Given the description of an element on the screen output the (x, y) to click on. 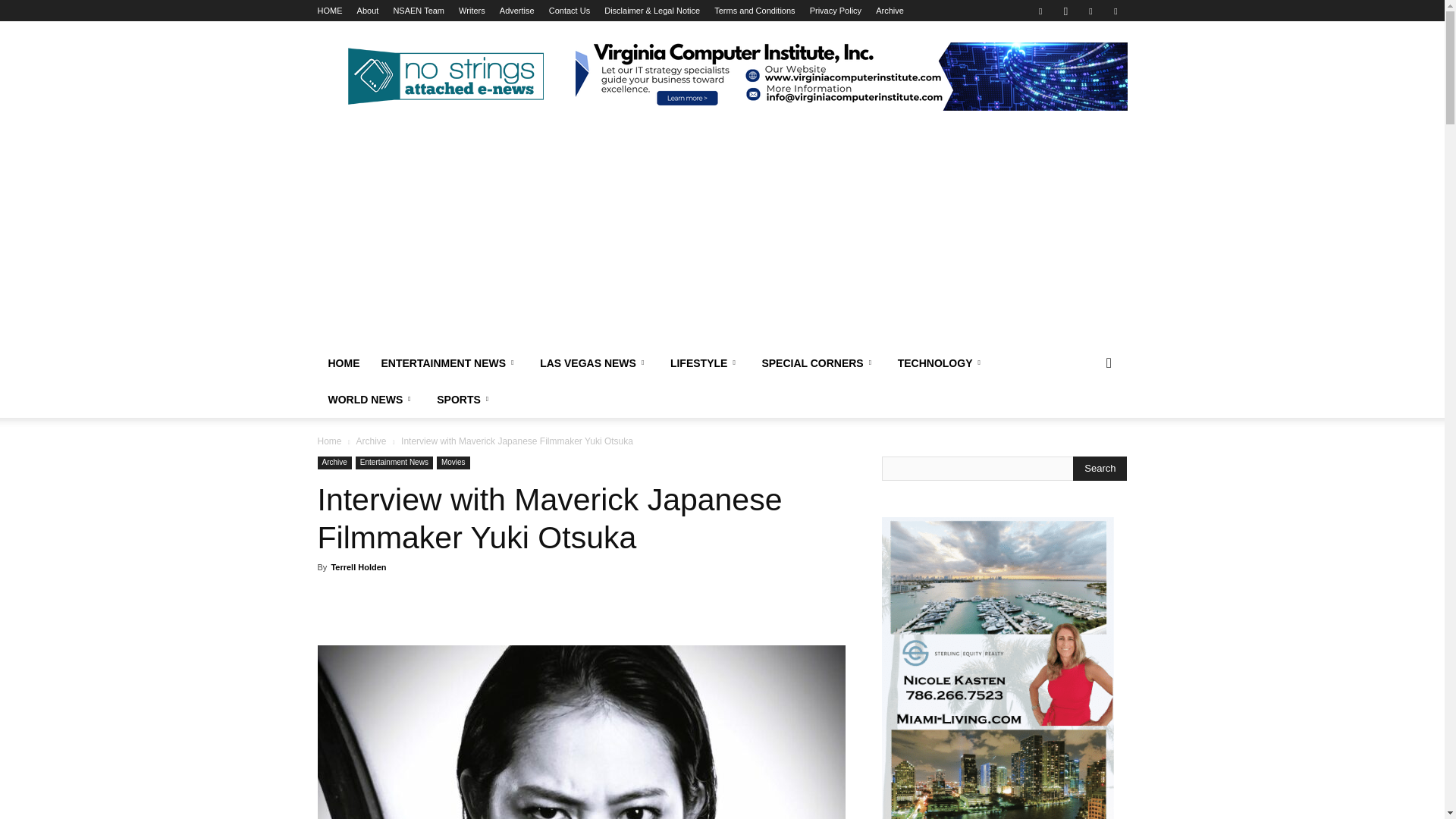
Instagram (1065, 10)
Linkedin (1090, 10)
Search (1099, 468)
Twitter (1114, 10)
Facebook (1040, 10)
